Given the description of an element on the screen output the (x, y) to click on. 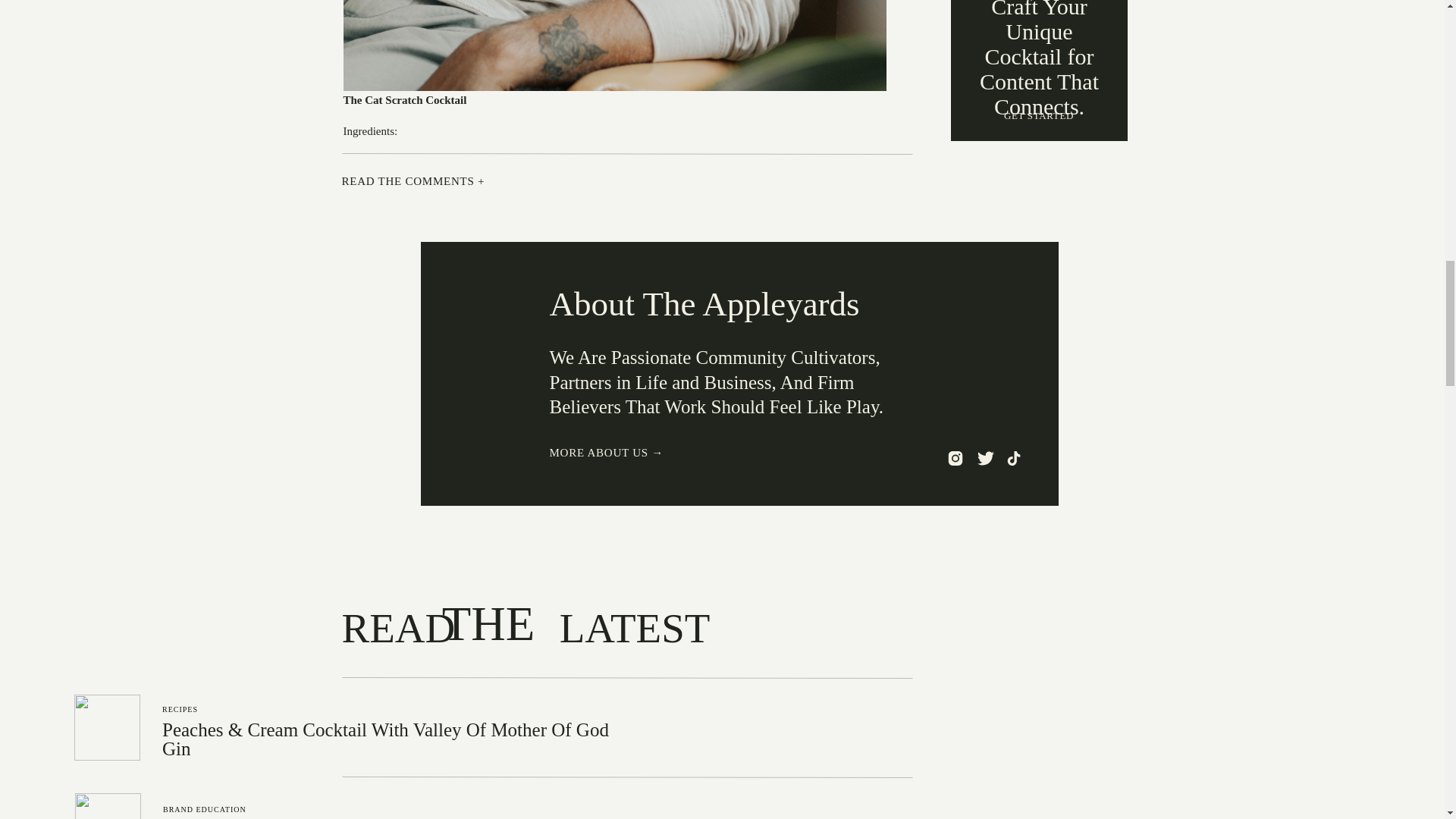
How to Write On-Brand Captions for Instagram (108, 806)
